Given the description of an element on the screen output the (x, y) to click on. 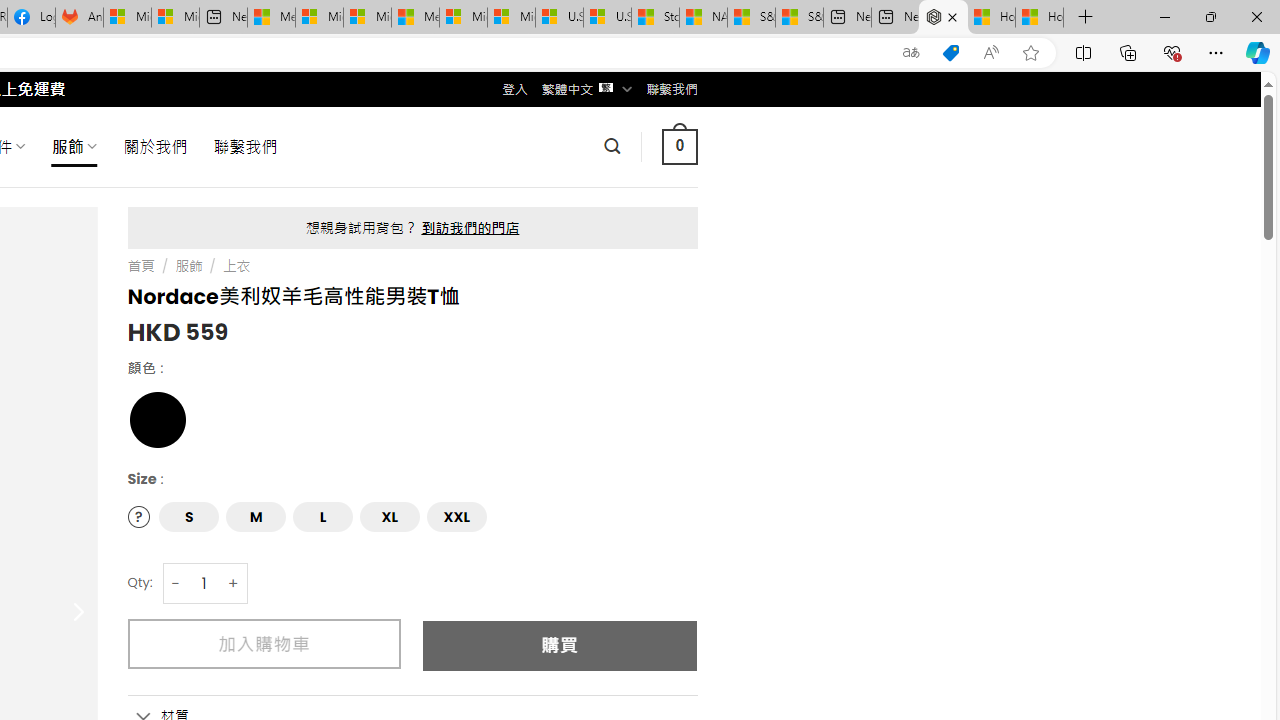
Microsoft account | Privacy (319, 17)
+ (234, 583)
